Given the description of an element on the screen output the (x, y) to click on. 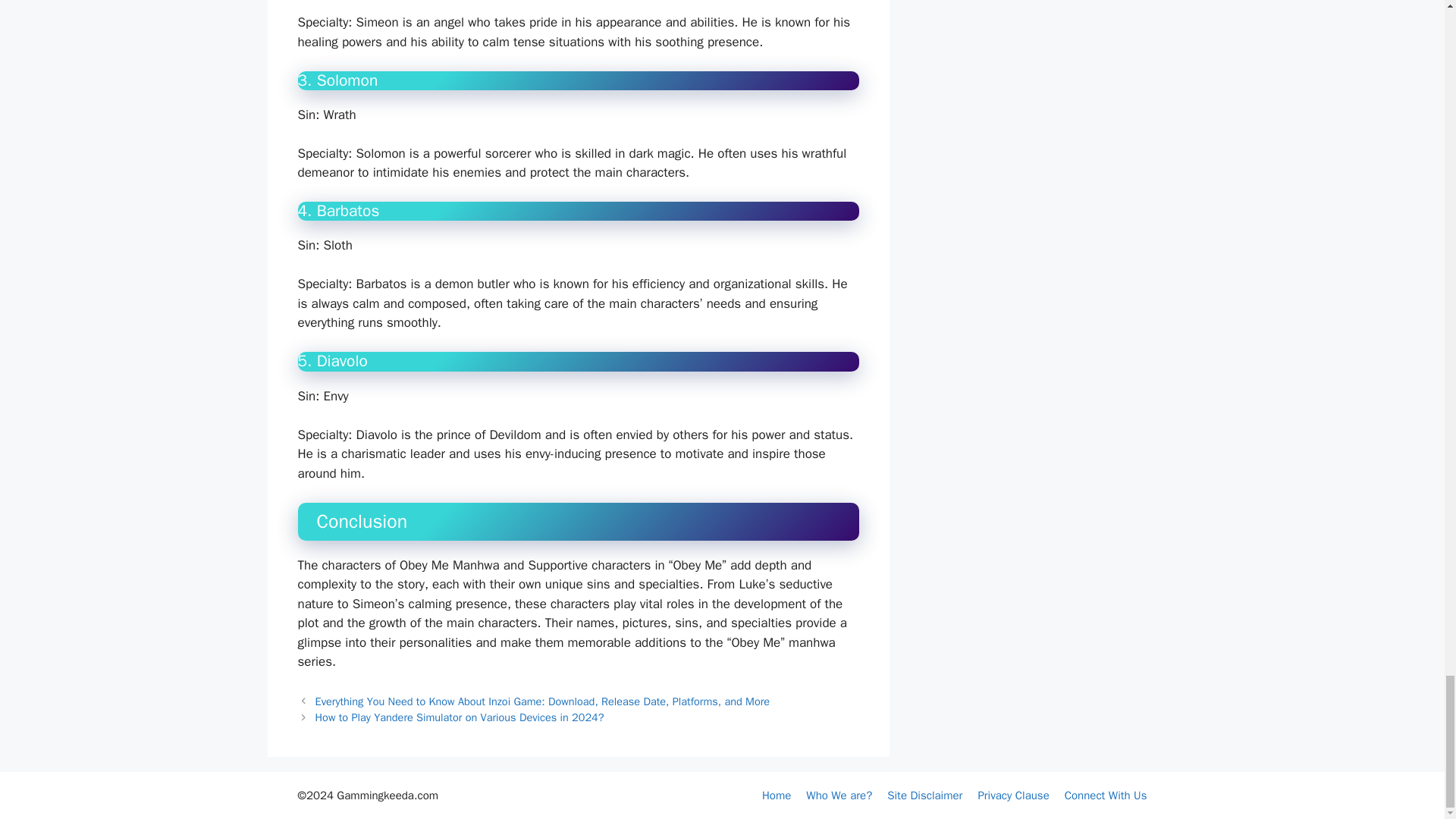
How to Play Yandere Simulator on Various Devices in 2024? (459, 716)
